Given the description of an element on the screen output the (x, y) to click on. 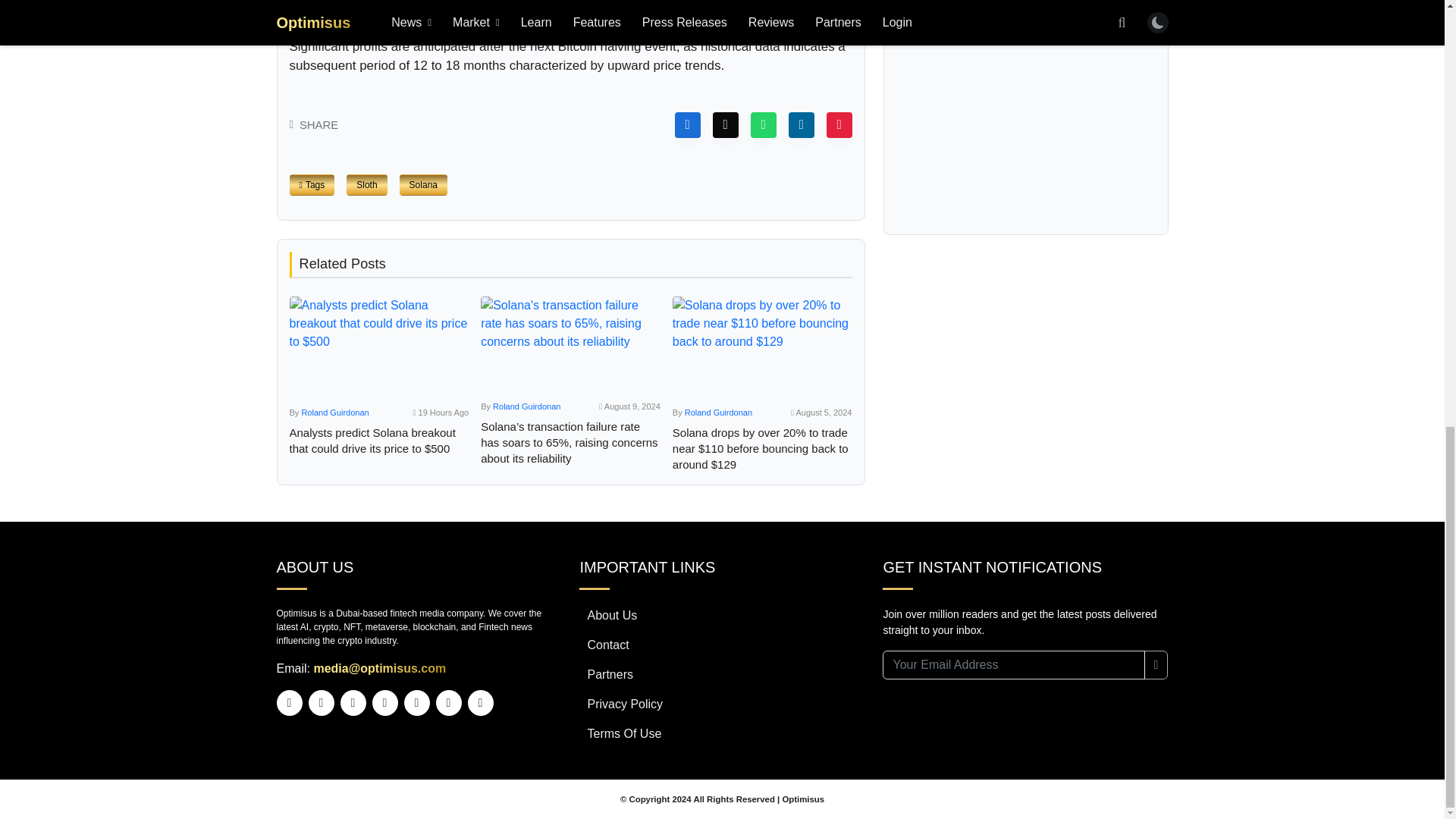
Sloth (366, 184)
Roland Guirdonan (334, 411)
Solana (422, 184)
